Given the description of an element on the screen output the (x, y) to click on. 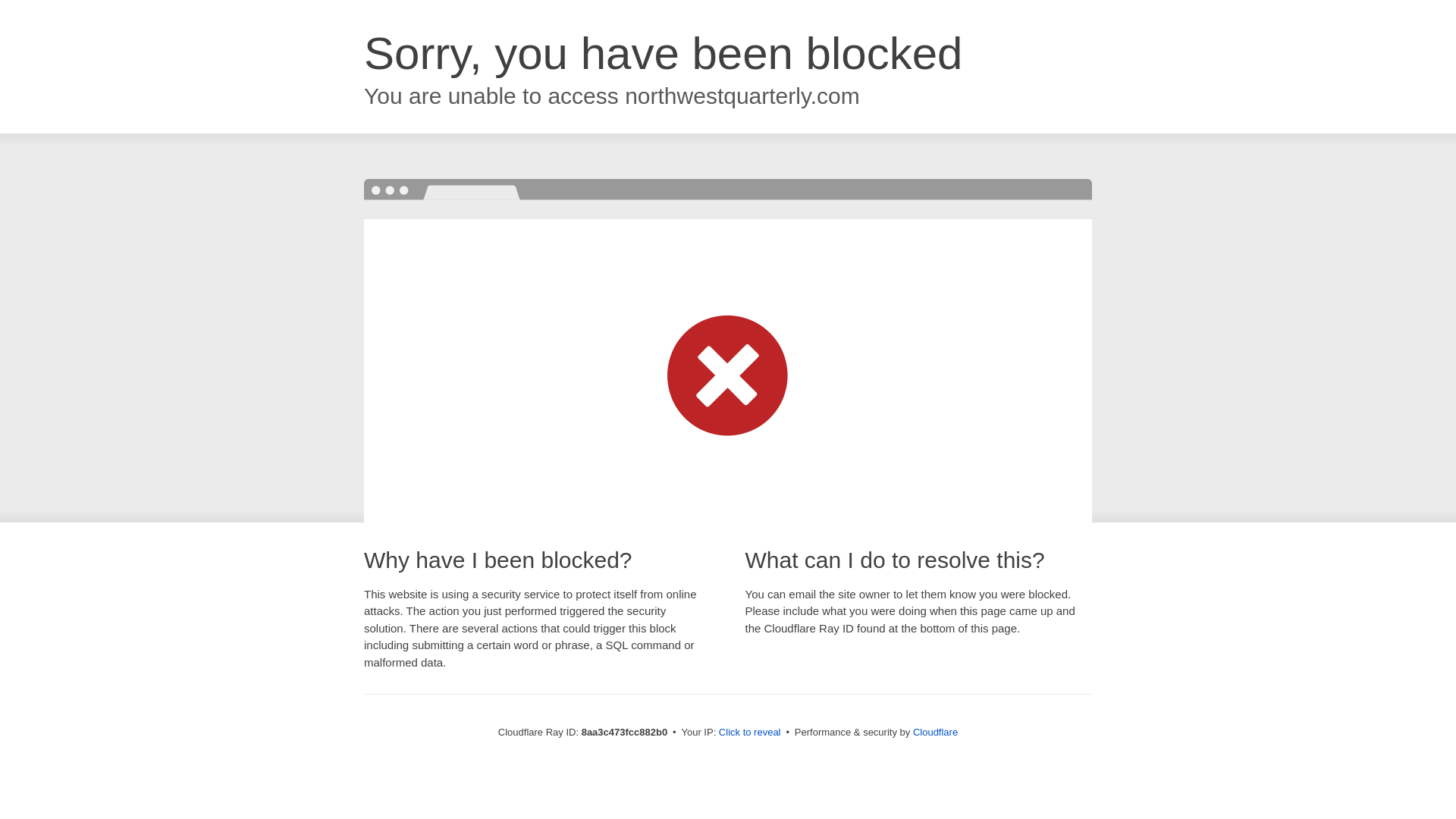
Cloudflare (935, 731)
Click to reveal (749, 732)
